Given the description of an element on the screen output the (x, y) to click on. 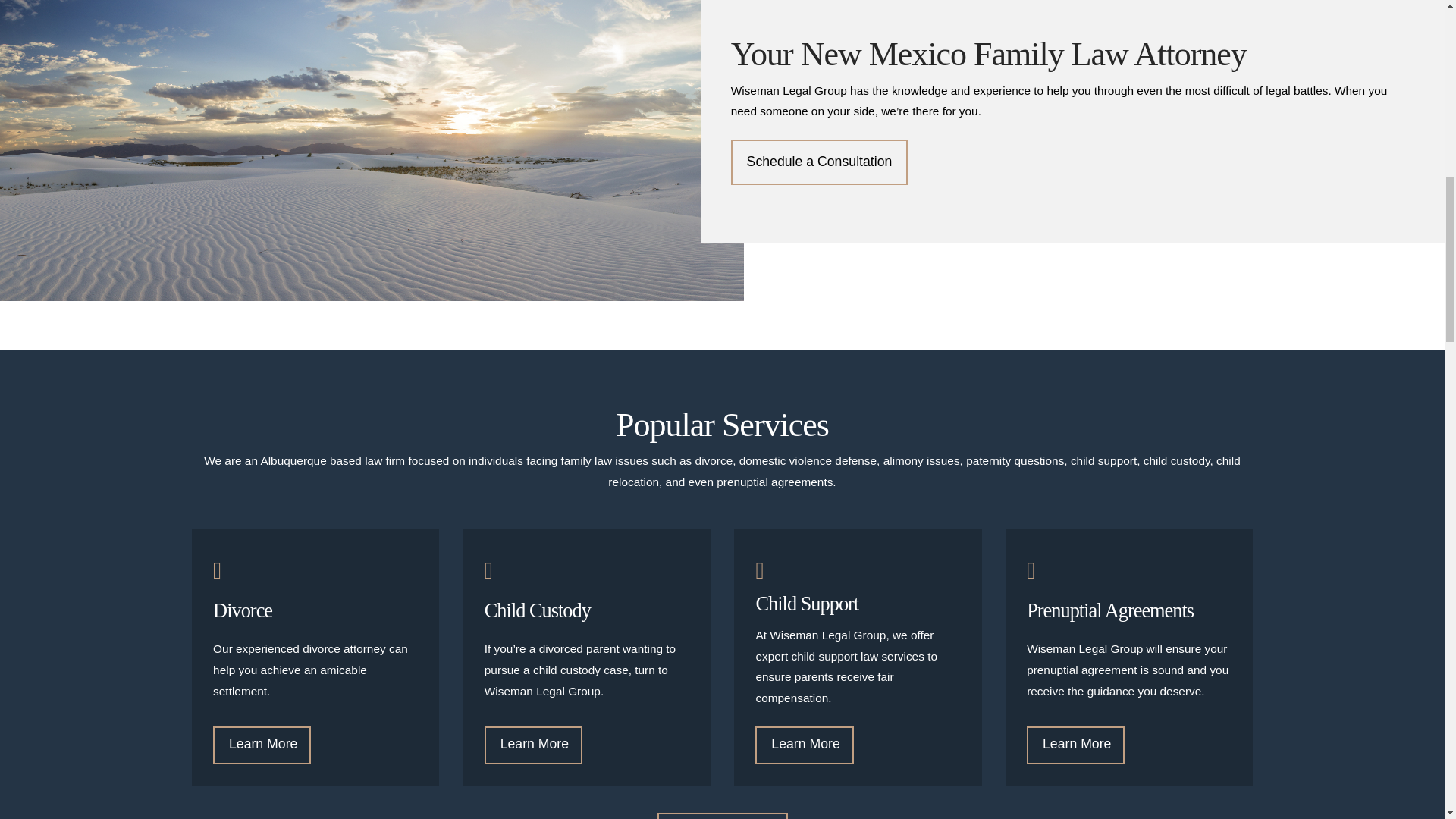
Learn More (1075, 745)
View all Services (721, 816)
Learn More (804, 745)
Schedule a Consultation (818, 161)
Learn More (533, 745)
Learn More (261, 745)
